Given the description of an element on the screen output the (x, y) to click on. 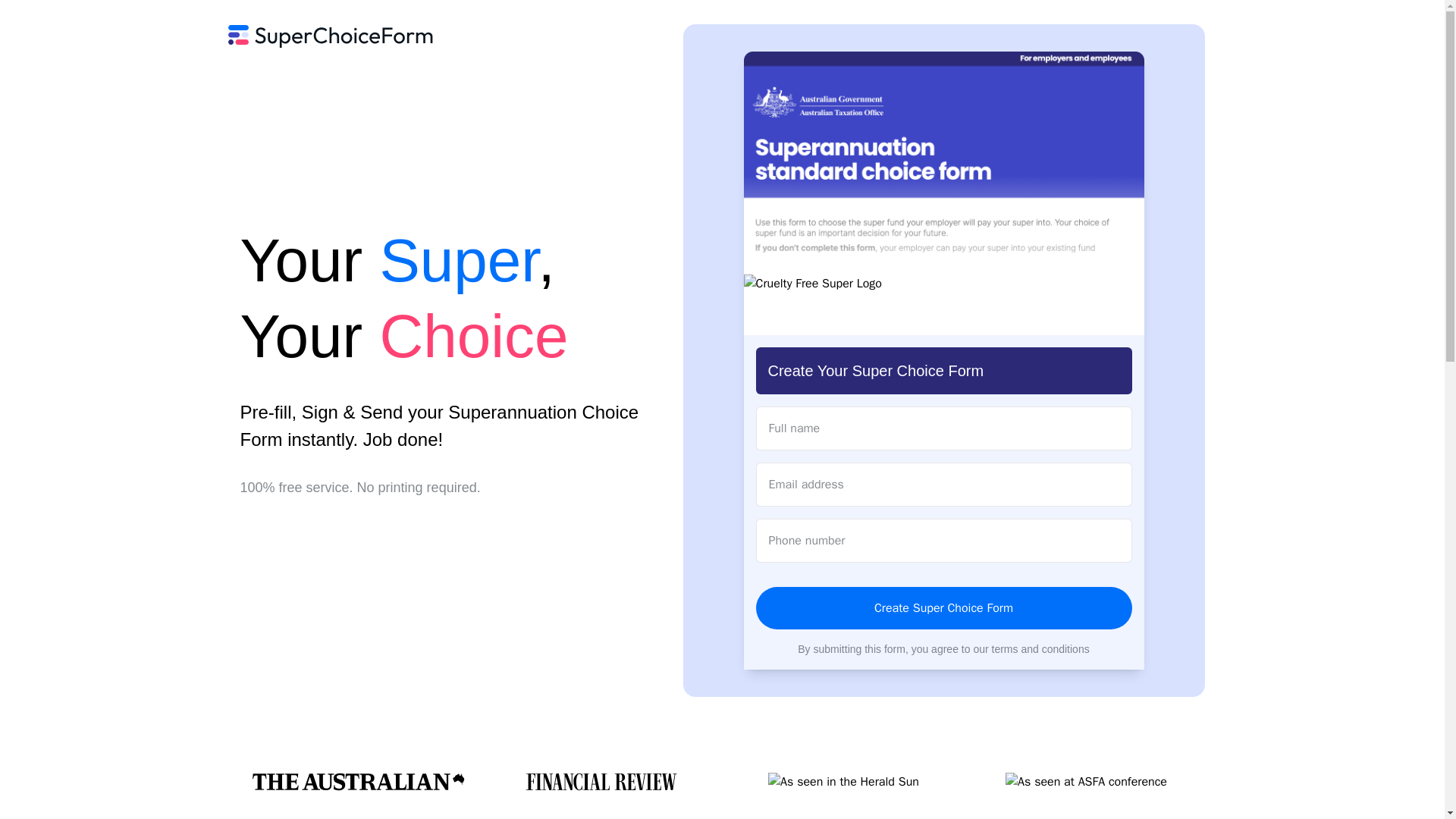
terms and conditions (1040, 648)
Create Super Choice Form (943, 608)
Create Super Choice Form (943, 608)
